Given the description of an element on the screen output the (x, y) to click on. 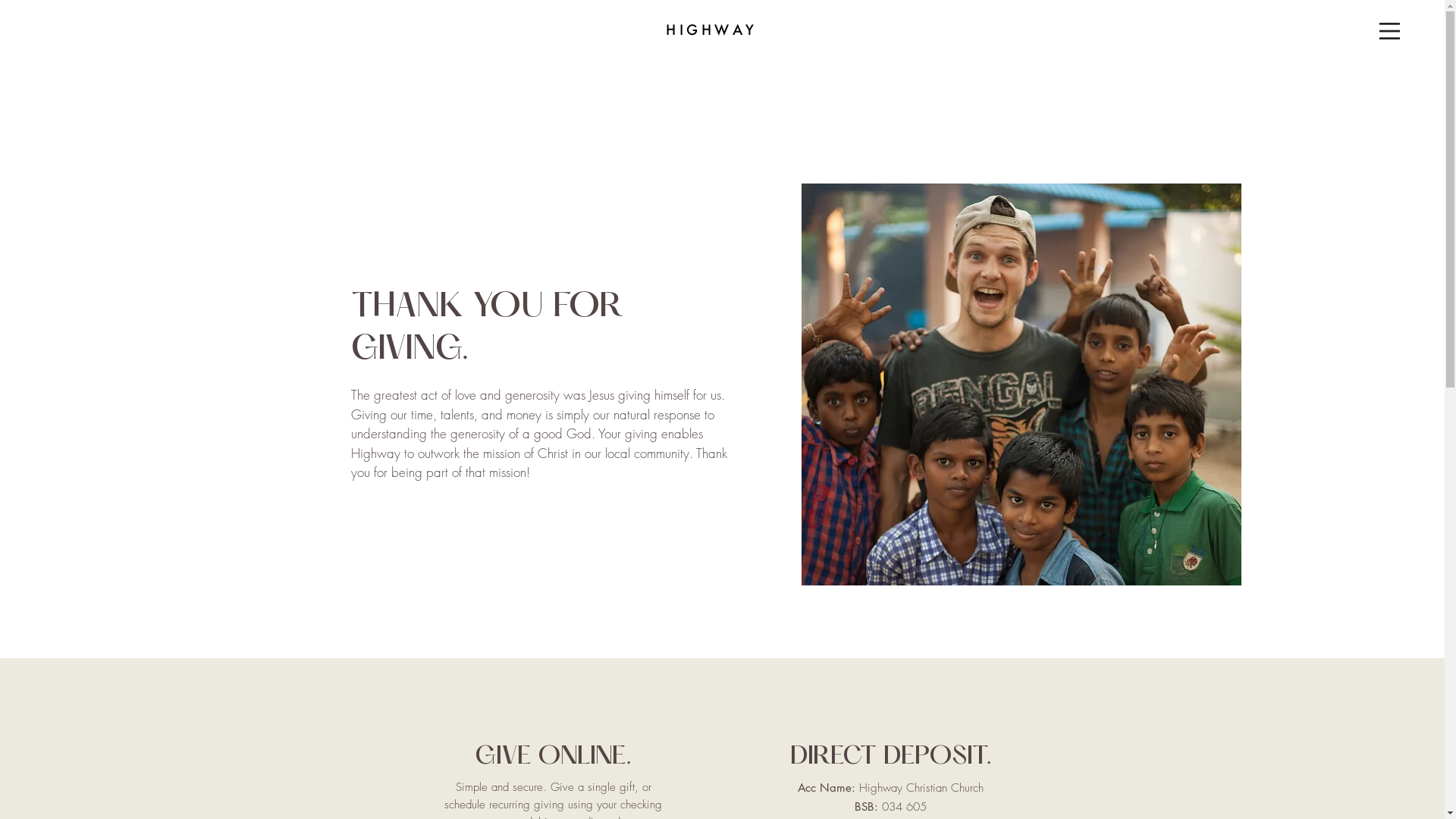
HIGHWAY Element type: text (711, 29)
